Given the description of an element on the screen output the (x, y) to click on. 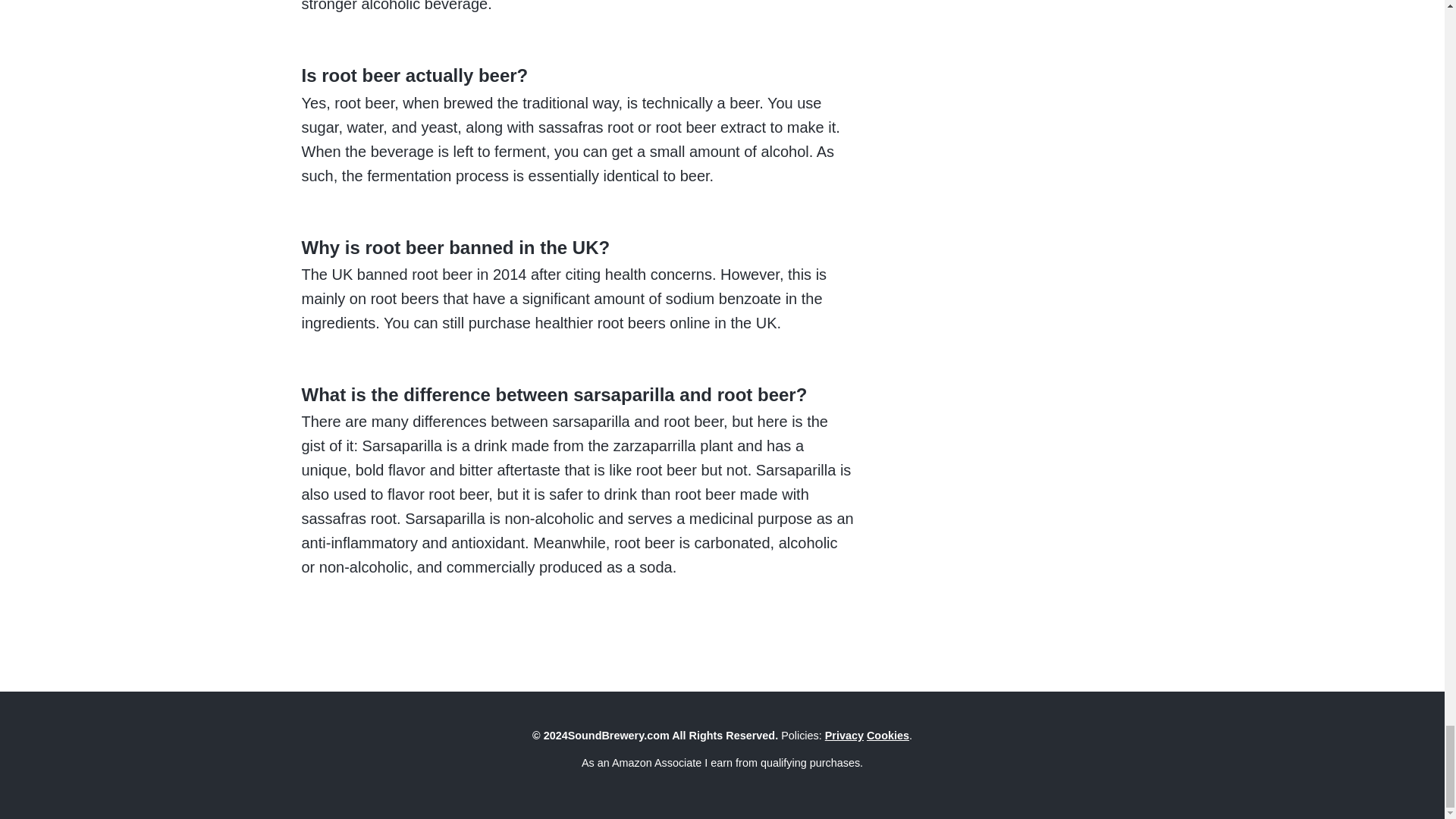
Privacy (844, 735)
Cookies (887, 735)
